Given the description of an element on the screen output the (x, y) to click on. 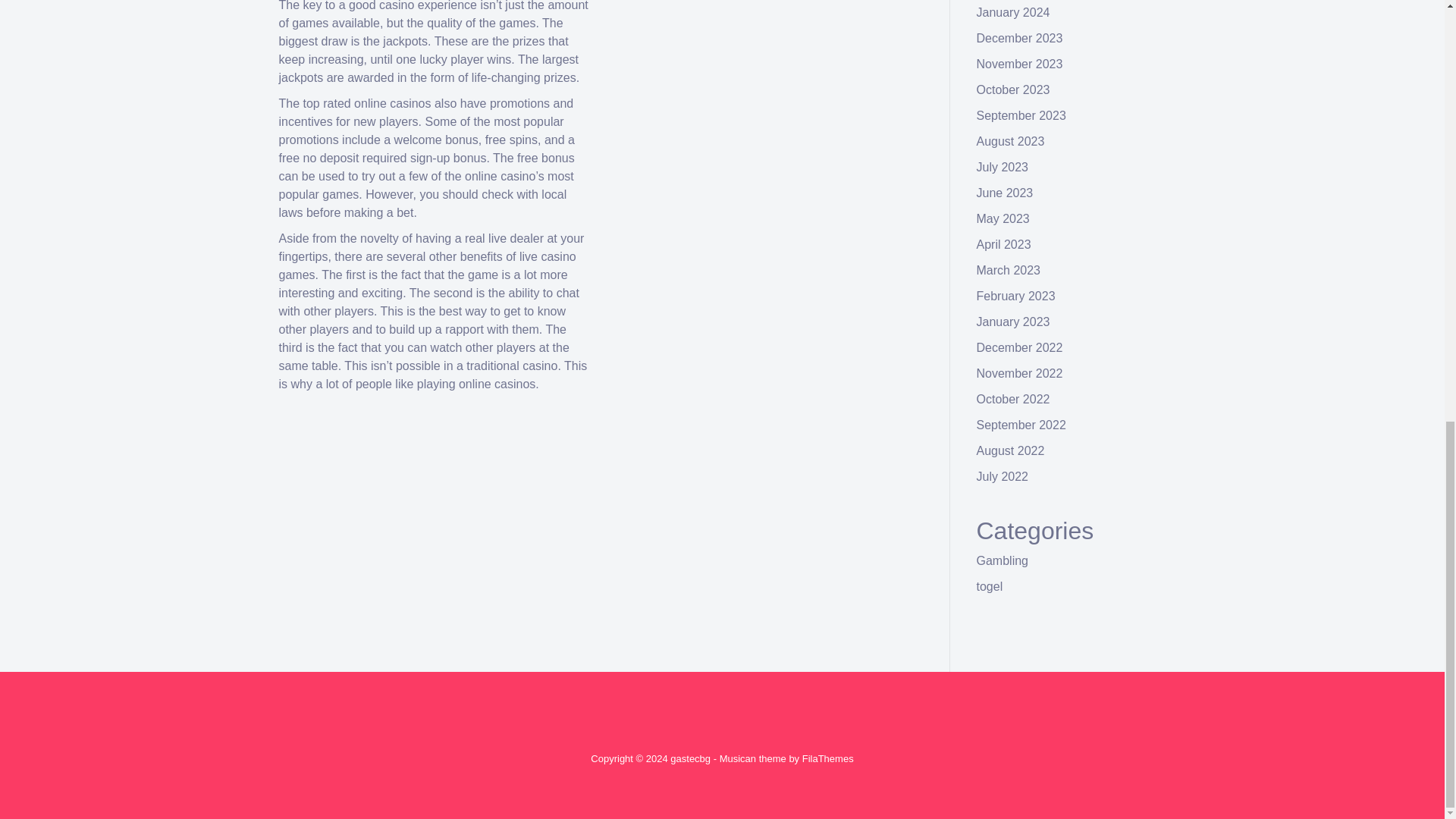
August 2023 (1010, 141)
gastecbg (689, 758)
October 2022 (1012, 399)
January 2023 (1012, 321)
June 2023 (1004, 192)
September 2023 (1020, 115)
May 2023 (1002, 218)
July 2023 (1002, 166)
March 2023 (1008, 269)
December 2022 (1019, 347)
